Given the description of an element on the screen output the (x, y) to click on. 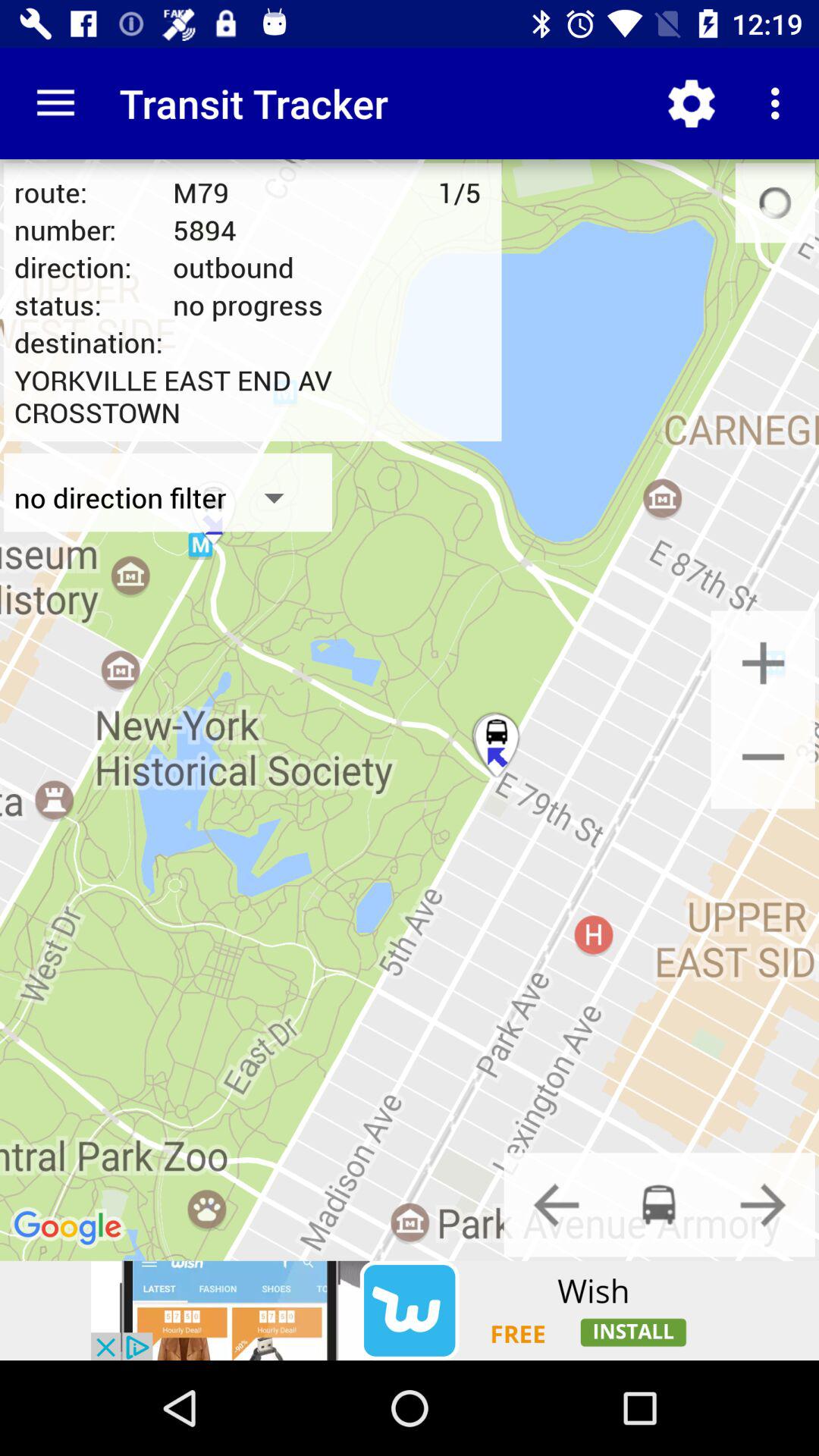
zoom in (762, 662)
